Given the description of an element on the screen output the (x, y) to click on. 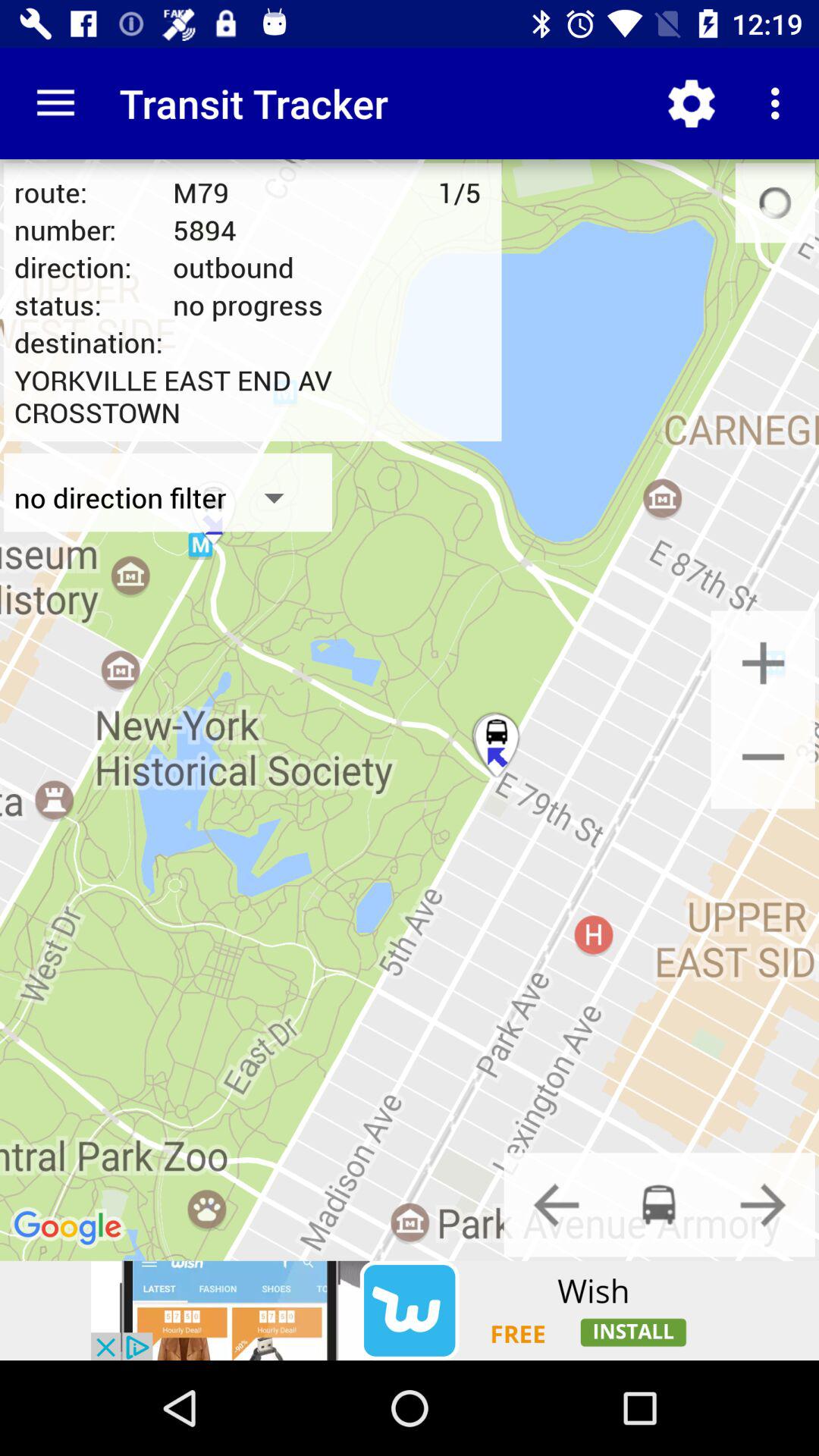
zoom in (762, 662)
